Given the description of an element on the screen output the (x, y) to click on. 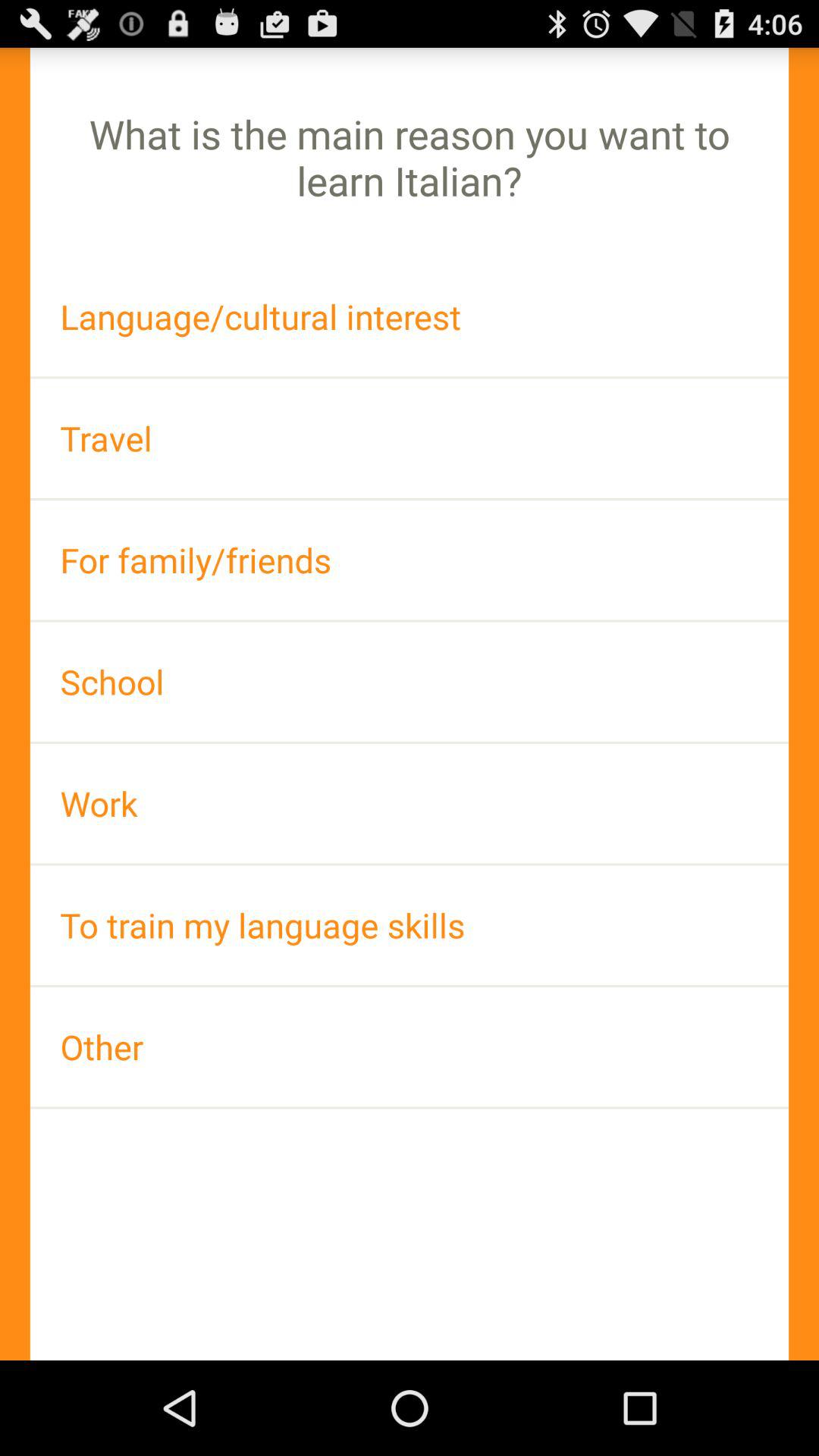
turn off item above the to train my item (409, 803)
